Given the description of an element on the screen output the (x, y) to click on. 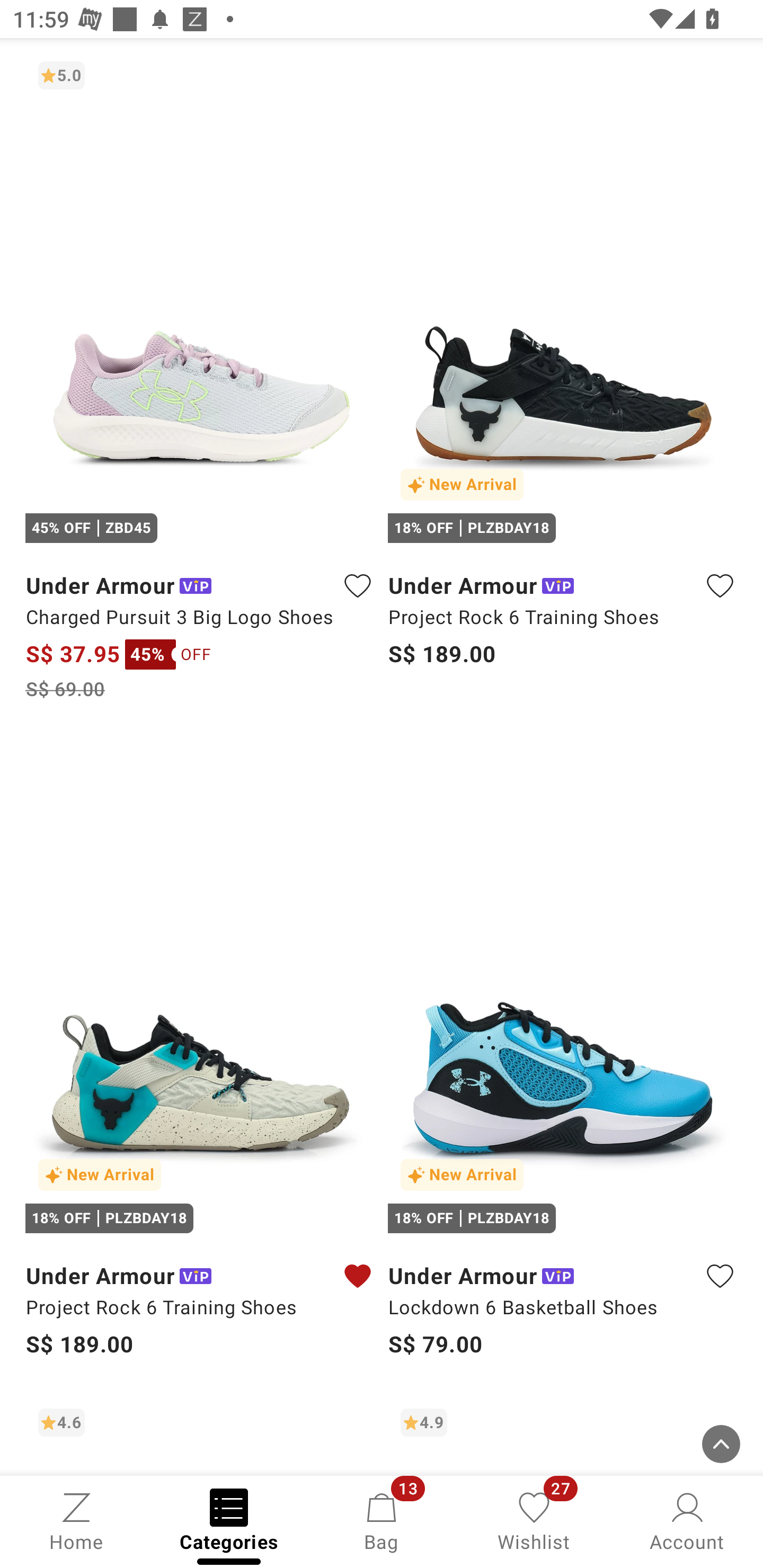
Home (76, 1519)
Bag, 13 new notifications Bag (381, 1519)
Wishlist, 27 new notifications Wishlist (533, 1519)
Account (686, 1519)
